Given the description of an element on the screen output the (x, y) to click on. 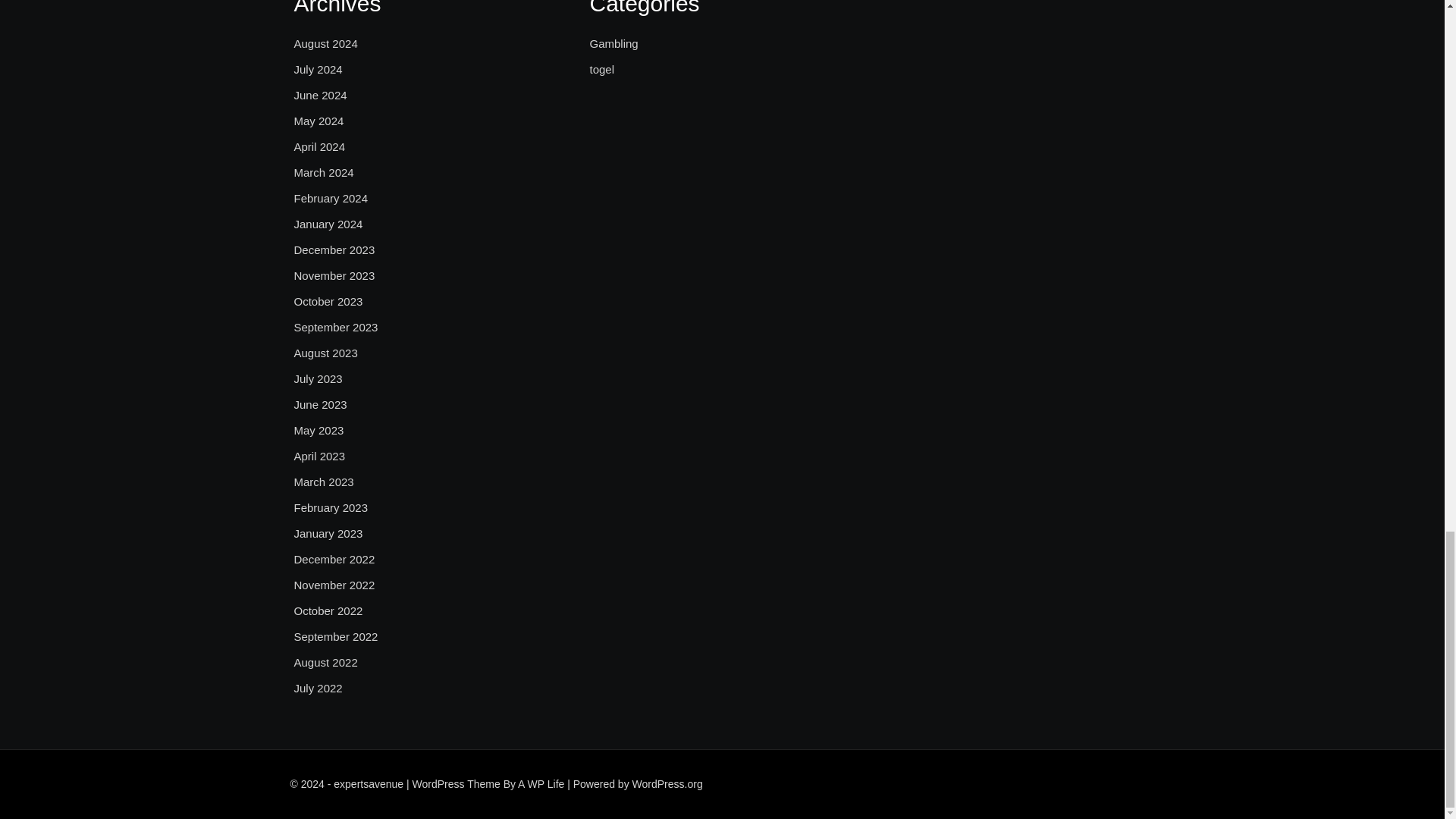
August 2024 (326, 44)
February 2023 (331, 507)
November 2023 (334, 275)
December 2023 (334, 249)
March 2023 (323, 482)
June 2024 (320, 95)
October 2022 (328, 610)
January 2023 (328, 533)
May 2024 (318, 121)
June 2023 (320, 404)
